Given the description of an element on the screen output the (x, y) to click on. 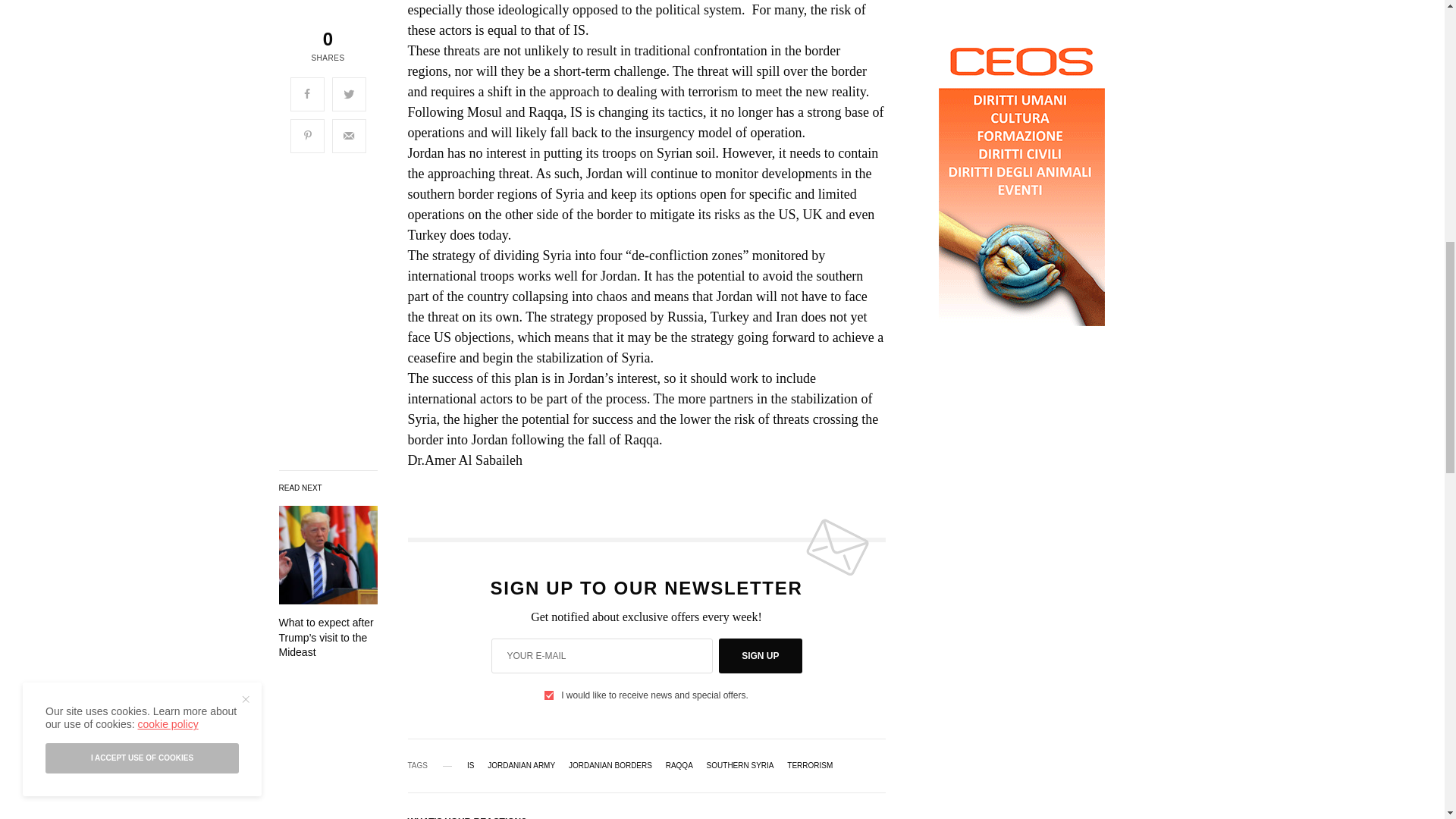
RAQQA (679, 765)
SIGN UP (760, 655)
TERRORISM (809, 765)
JORDANIAN BORDERS (610, 765)
IS (470, 765)
JORDANIAN ARMY (520, 765)
SOUTHERN SYRIA (740, 765)
To protect the northern border with Syria (328, 637)
